Given the description of an element on the screen output the (x, y) to click on. 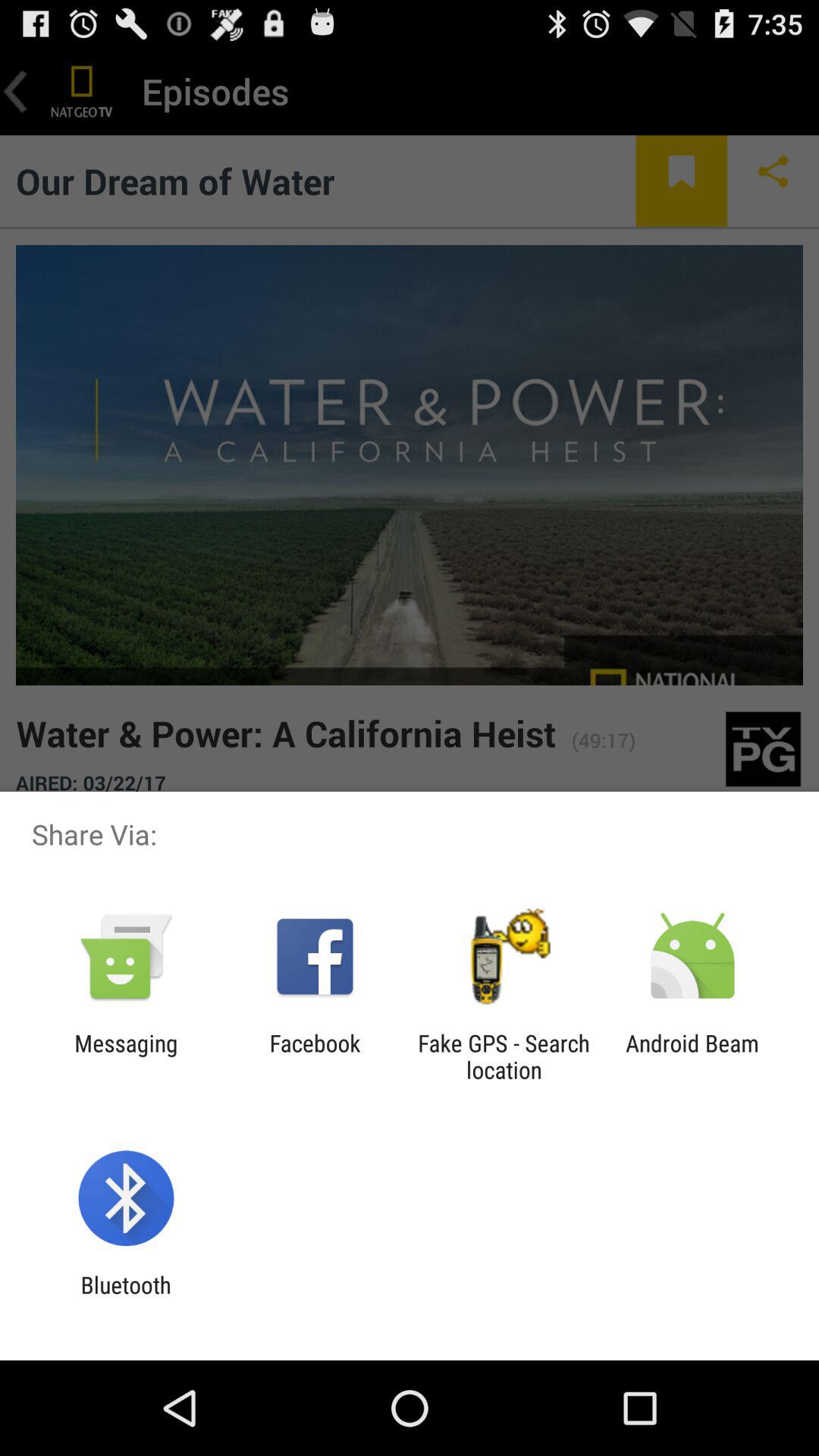
launch the icon next to the android beam icon (503, 1056)
